Given the description of an element on the screen output the (x, y) to click on. 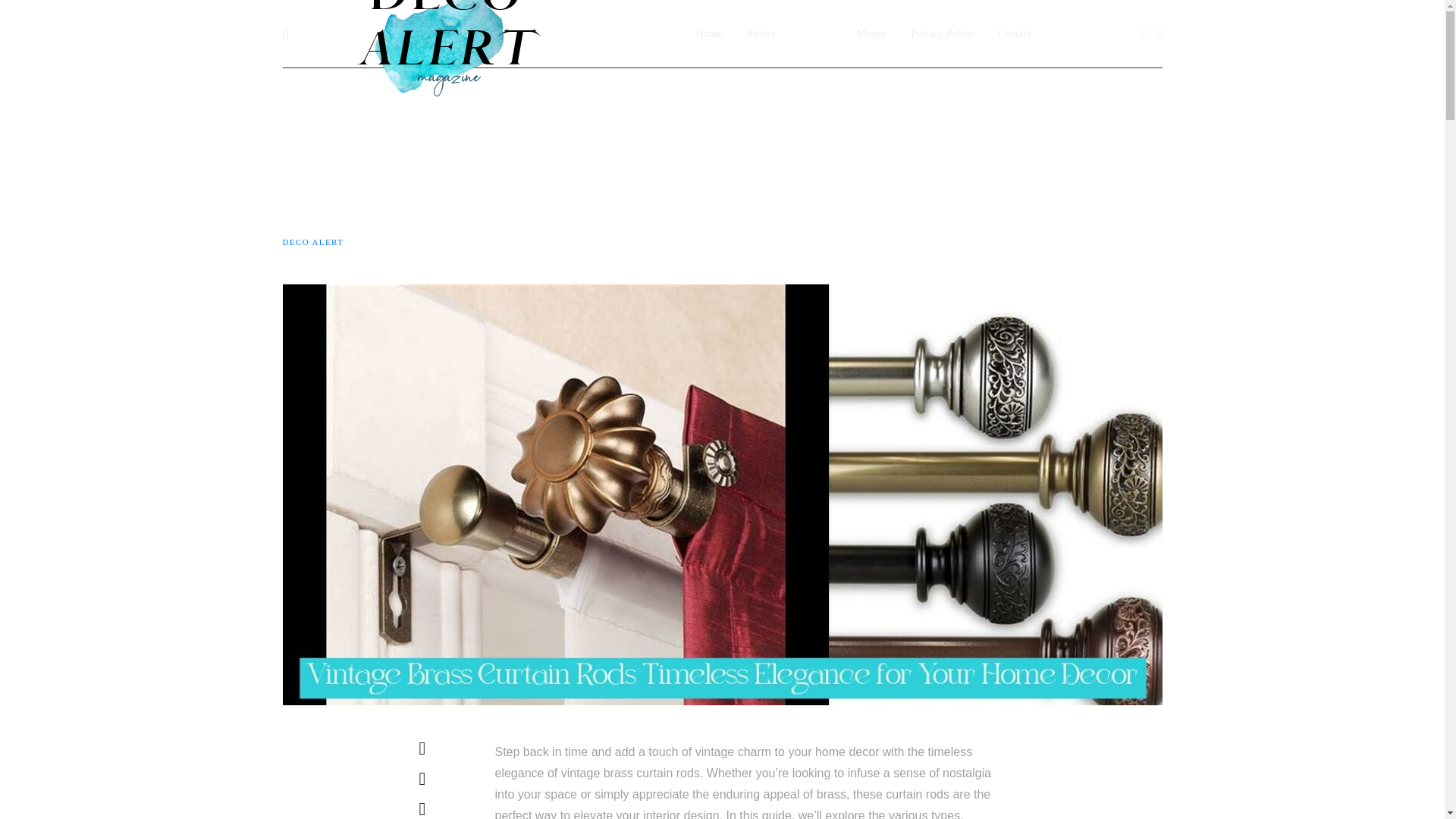
DECO ALERT (312, 240)
View all posts by Deco Alert (312, 240)
Privacy Policy (942, 33)
INTERIOR (305, 110)
